Given the description of an element on the screen output the (x, y) to click on. 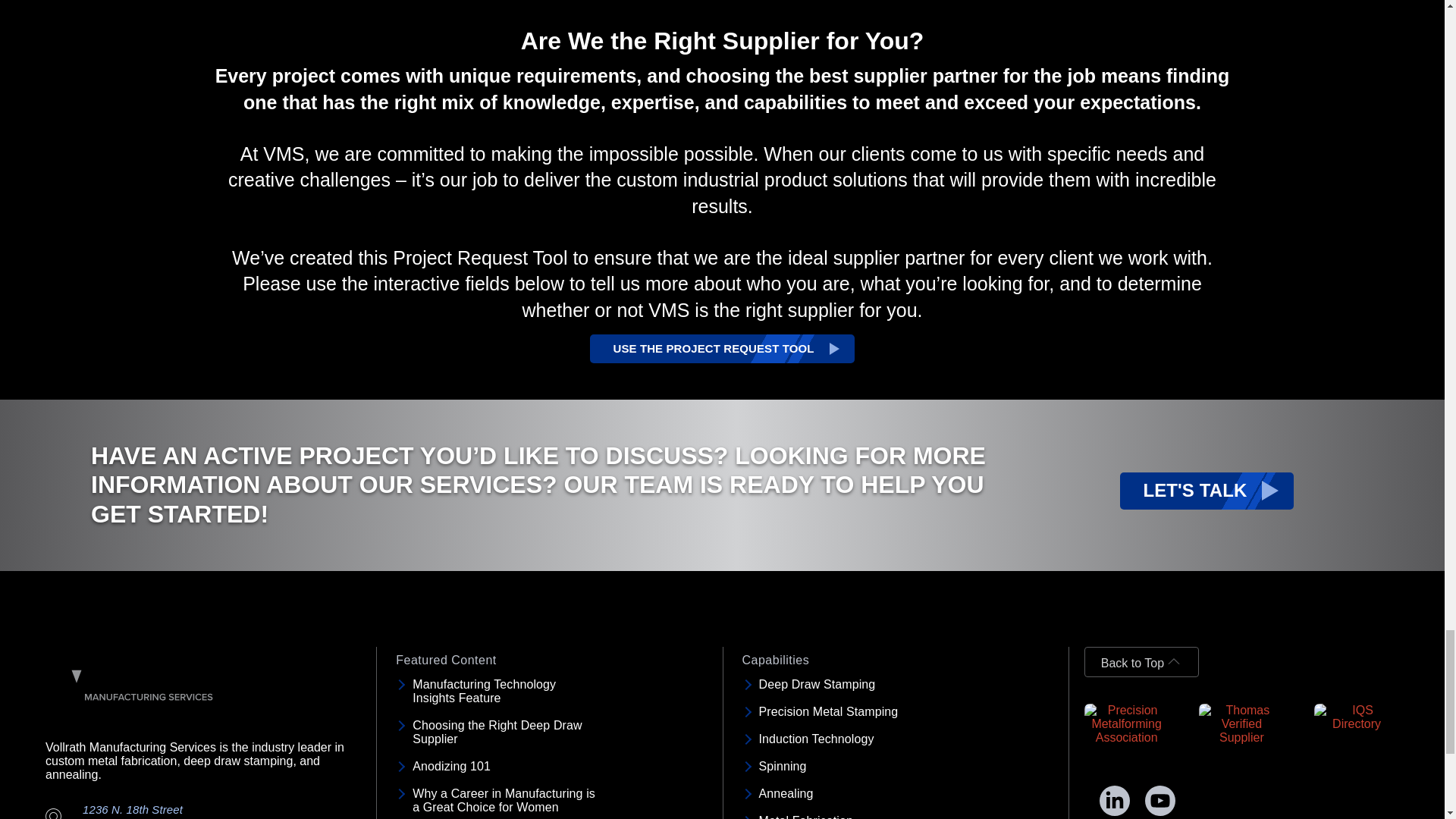
Thomas Verified Supplier (1241, 723)
IQS Directory (1356, 717)
Precision Metalforming Association (1126, 723)
Back to Top (1141, 662)
